Given the description of an element on the screen output the (x, y) to click on. 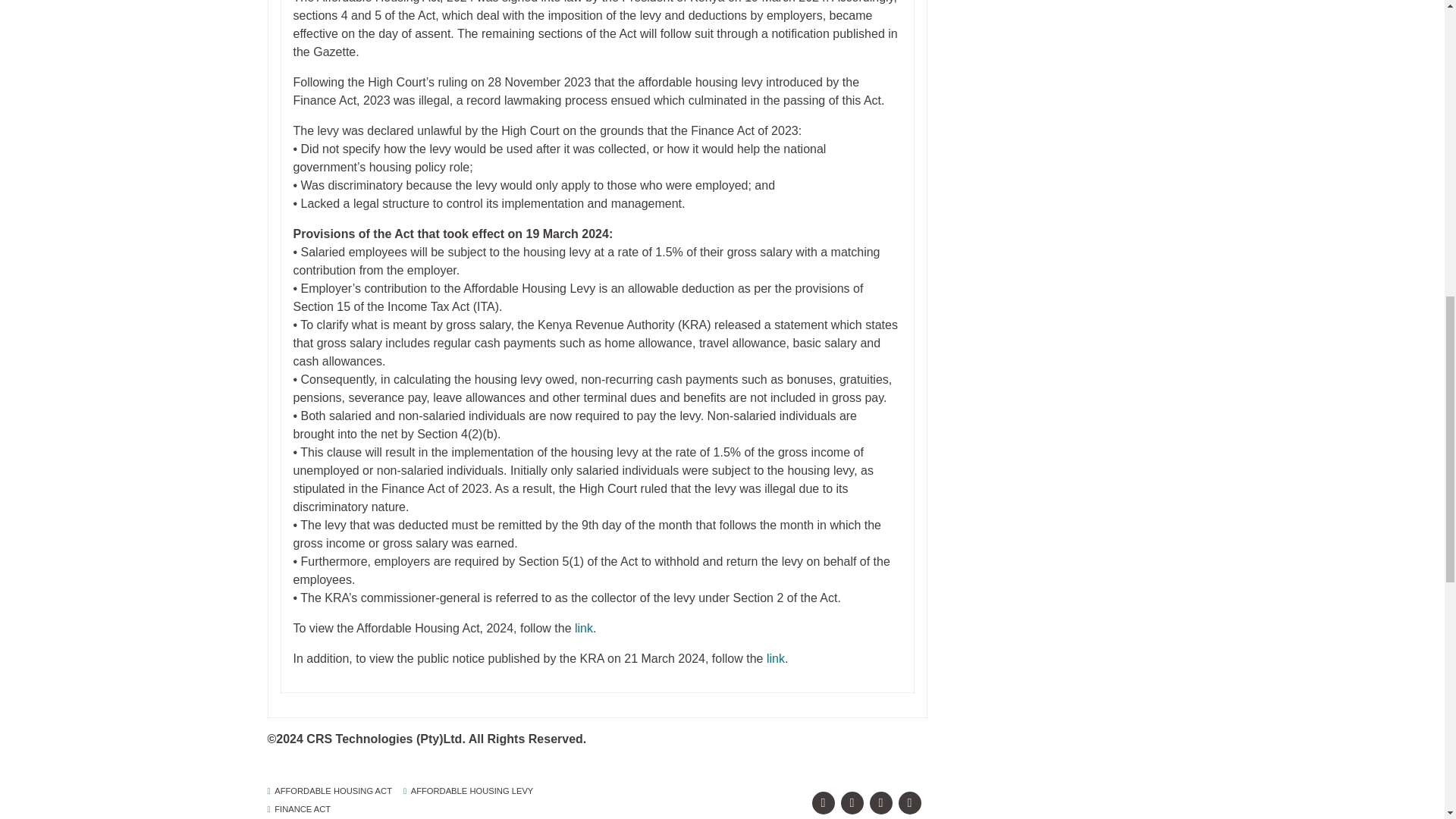
Share on WhatsApp (909, 802)
Share on Facebook (822, 802)
Share on Twitter (851, 802)
Share on Linkedin (880, 802)
